Given the description of an element on the screen output the (x, y) to click on. 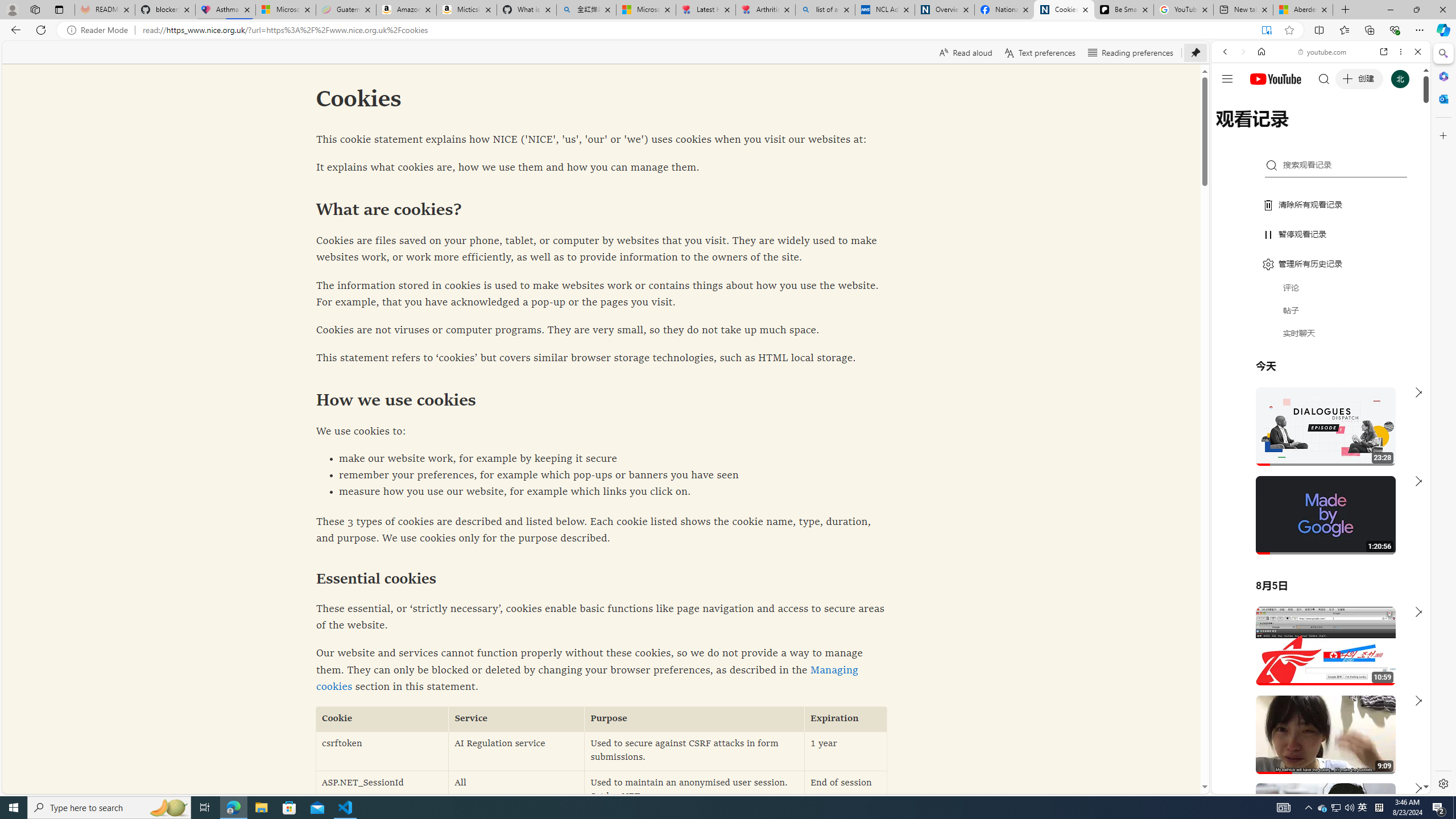
Class: dict_pnIcon rms_img (1312, 784)
Reader Mode (100, 29)
make our website work, for example by keeping it secure (601, 458)
Exit Immersive Reader (F9) (1266, 29)
youtube.com (1322, 51)
YouTube - YouTube (1315, 560)
